Given the description of an element on the screen output the (x, y) to click on. 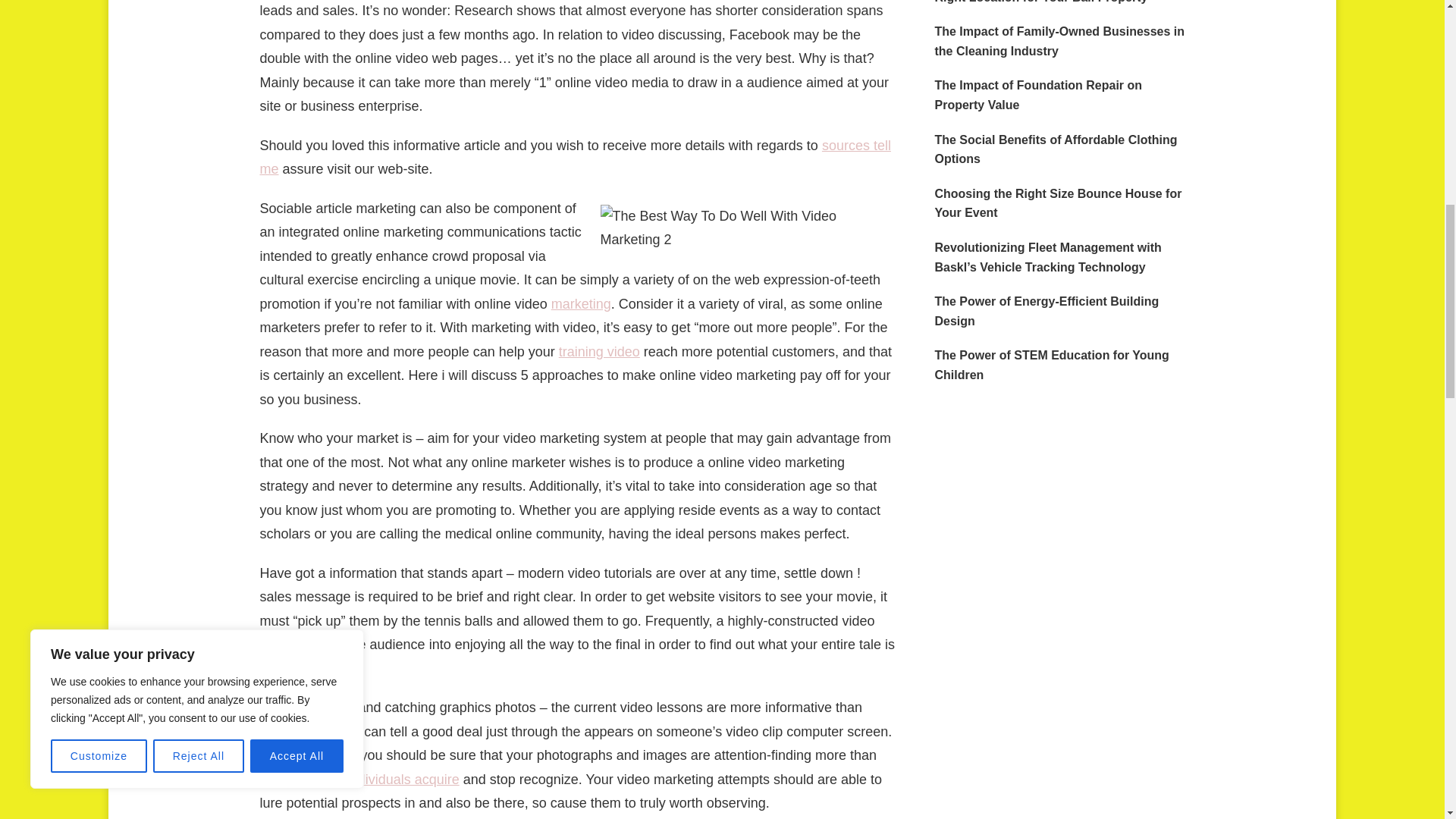
individuals acquire (403, 779)
training video (599, 351)
sources tell me (574, 157)
marketing (581, 304)
